Given the description of an element on the screen output the (x, y) to click on. 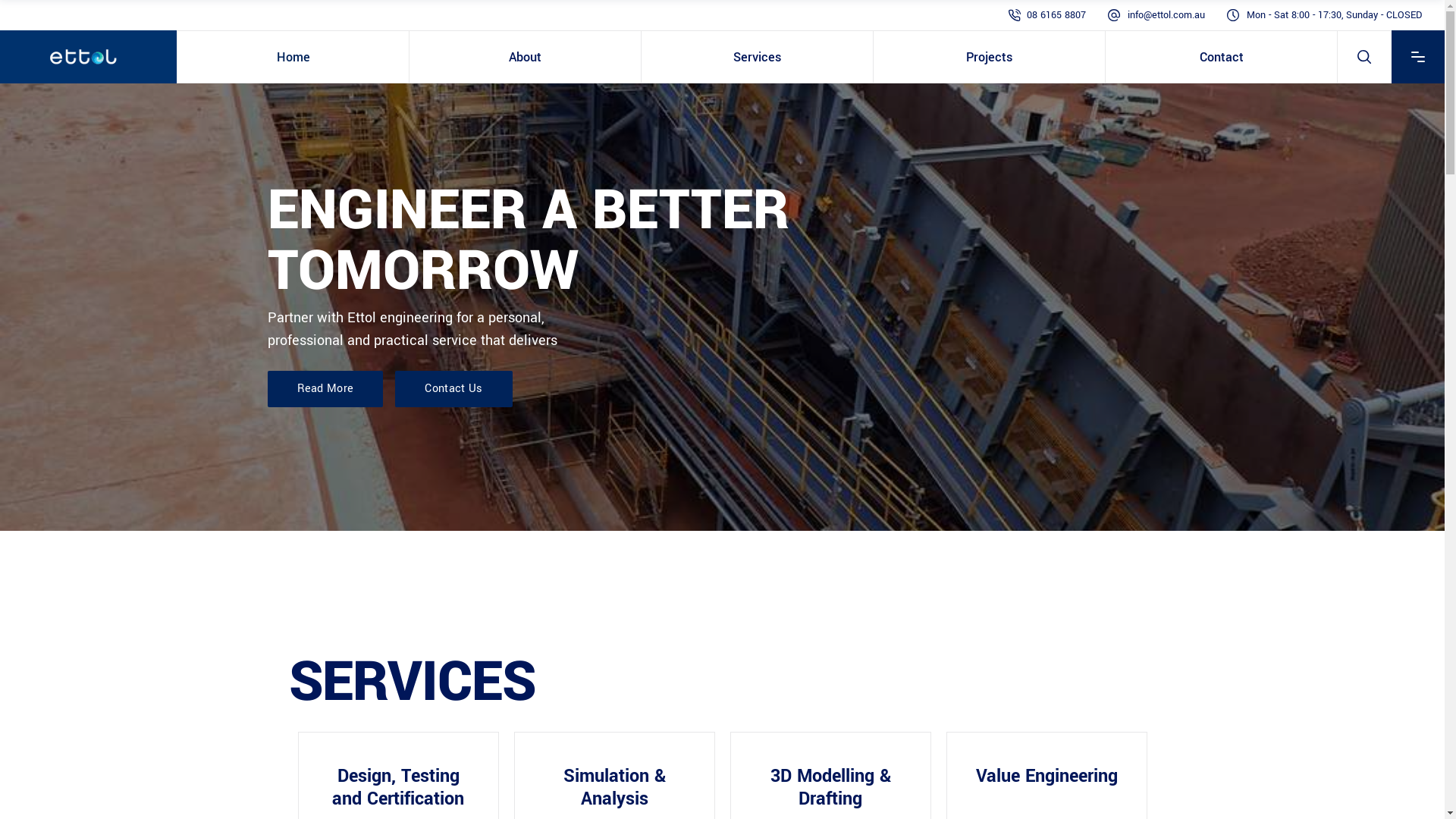
Projects Element type: text (988, 56)
08 6165 8807 Element type: text (1055, 14)
info@ettol.com.au Element type: text (1165, 14)
Contact Us Element type: text (453, 388)
Design, Testing and Certification Element type: text (397, 787)
Services Element type: text (756, 56)
Simulation & Analysis Element type: text (614, 787)
Contact Element type: text (1220, 56)
Mon - Sat 8:00 - 17:30, Sunday - CLOSED Element type: text (1333, 14)
About Element type: text (524, 56)
Home Element type: text (292, 56)
Value Engineering Element type: text (1046, 776)
3D Modelling & Drafting Element type: text (829, 787)
Read More Element type: text (324, 388)
